Given the description of an element on the screen output the (x, y) to click on. 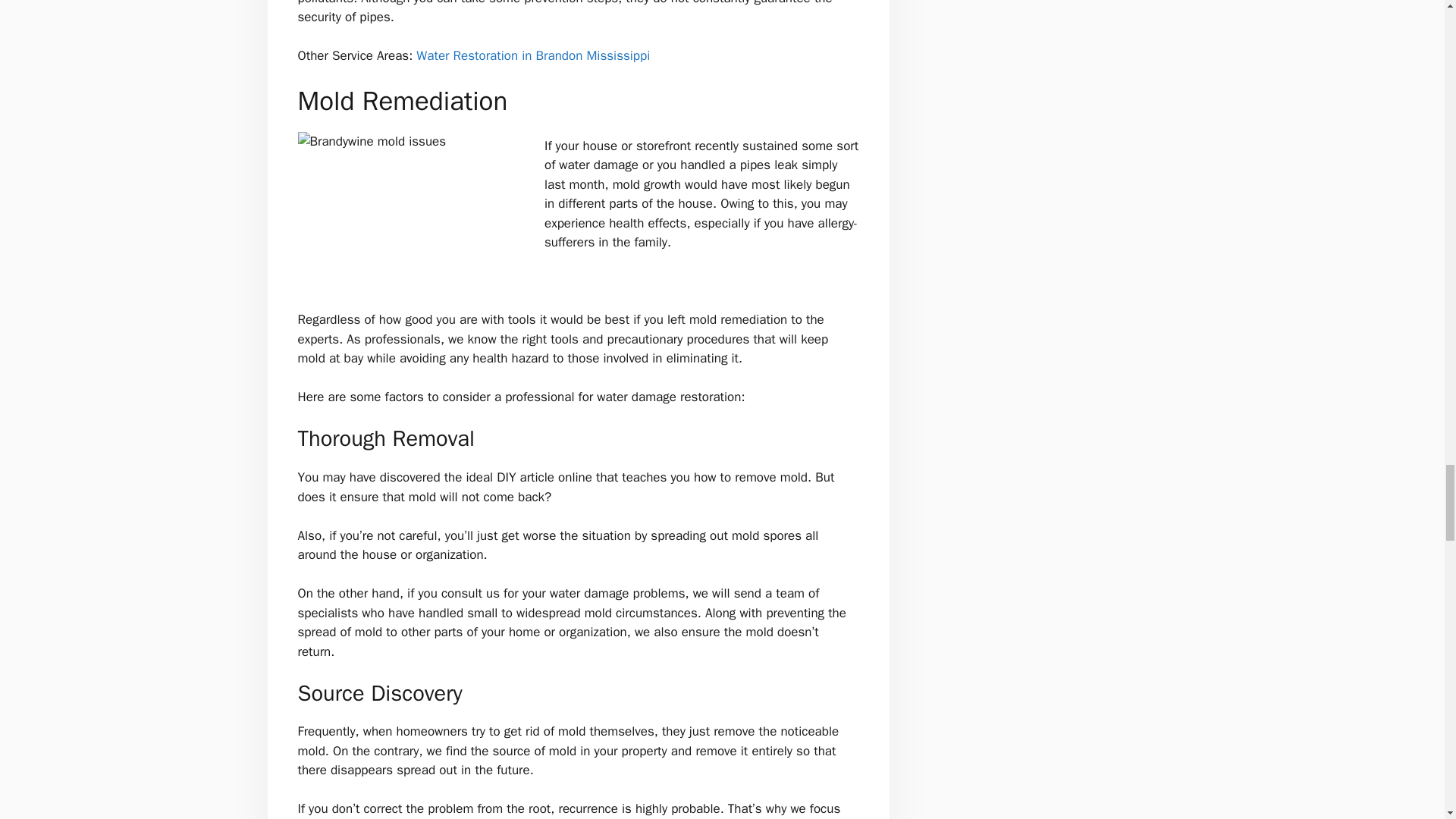
Water Restoration in Brandon Mississippi (532, 55)
